Given the description of an element on the screen output the (x, y) to click on. 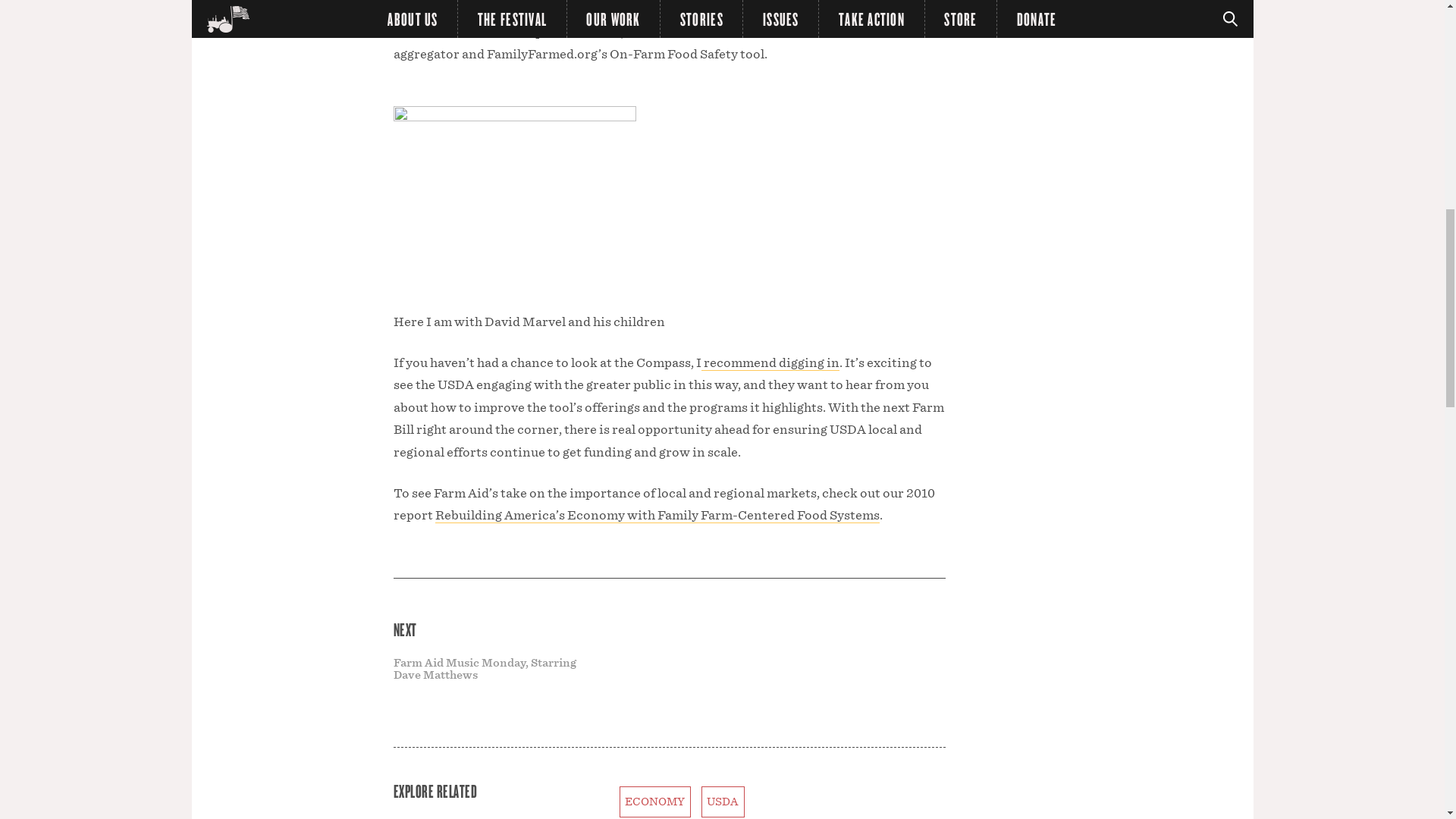
Farm Aid Music Monday, Starring Dave Matthews (484, 668)
Farm Aid Farmer Hero David Marvel (663, 8)
ECONOMY (654, 801)
USDA (723, 801)
recommend digging in (769, 363)
